Given the description of an element on the screen output the (x, y) to click on. 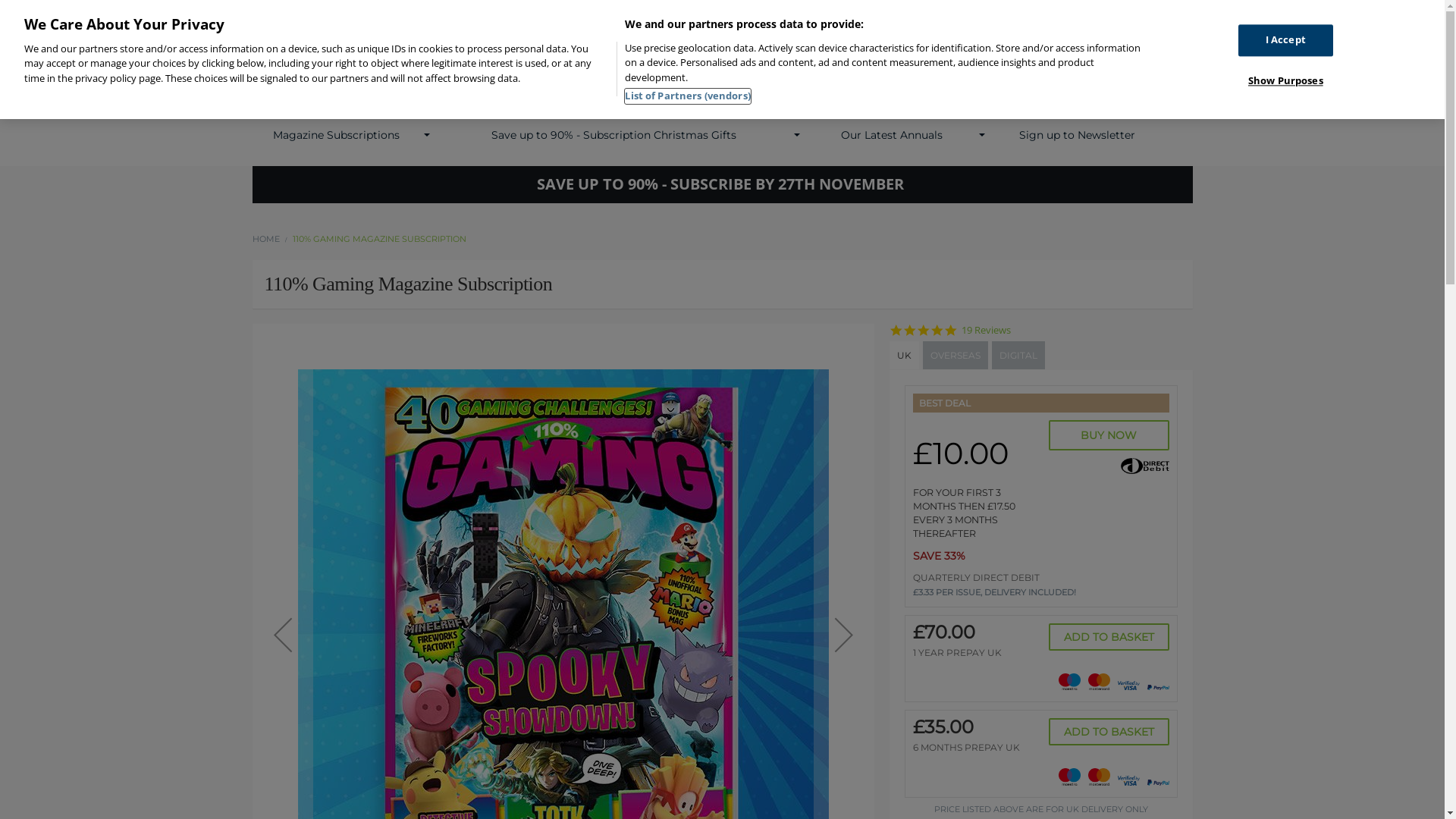
Magazine Subscriptions Element type: text (336, 134)
SIGN IN Element type: text (882, 17)
HOME Element type: text (265, 238)
DIGITAL Element type: text (1017, 355)
DC Thomson Shop Element type: hover (387, 81)
SAVE UP TO 90% - SUBSCRIBE BY 27TH NOVEMBER  Element type: text (721, 185)
My Cart Element type: text (1179, 84)
Skip to Content Element type: text (251, 3)
Show Purposes Element type: text (1285, 80)
Sign up to Newsletter Element type: text (1076, 134)
19 Reviews Element type: text (985, 330)
MY ACCOUNT Element type: text (812, 17)
UK Element type: text (903, 355)
GO Element type: text (1144, 84)
CREATE AN ACCOUNT Element type: text (972, 17)
Skip to the end of the images gallery Element type: text (861, 334)
List of Partners (vendors) Element type: text (686, 95)
OVERSEAS Element type: text (954, 355)
ADD TO BASKET Element type: text (1108, 636)
Save up to 90% - Subscription Christmas Gifts Element type: text (614, 134)
MANAGE MY SUBSCRIPTION Element type: text (1114, 17)
ADD TO BASKET Element type: text (1108, 731)
Our Latest Annuals Element type: text (891, 134)
BUY NOW Element type: text (1108, 435)
DC Thomson Shop Element type: hover (387, 84)
I Accept Element type: text (1285, 40)
